Given the description of an element on the screen output the (x, y) to click on. 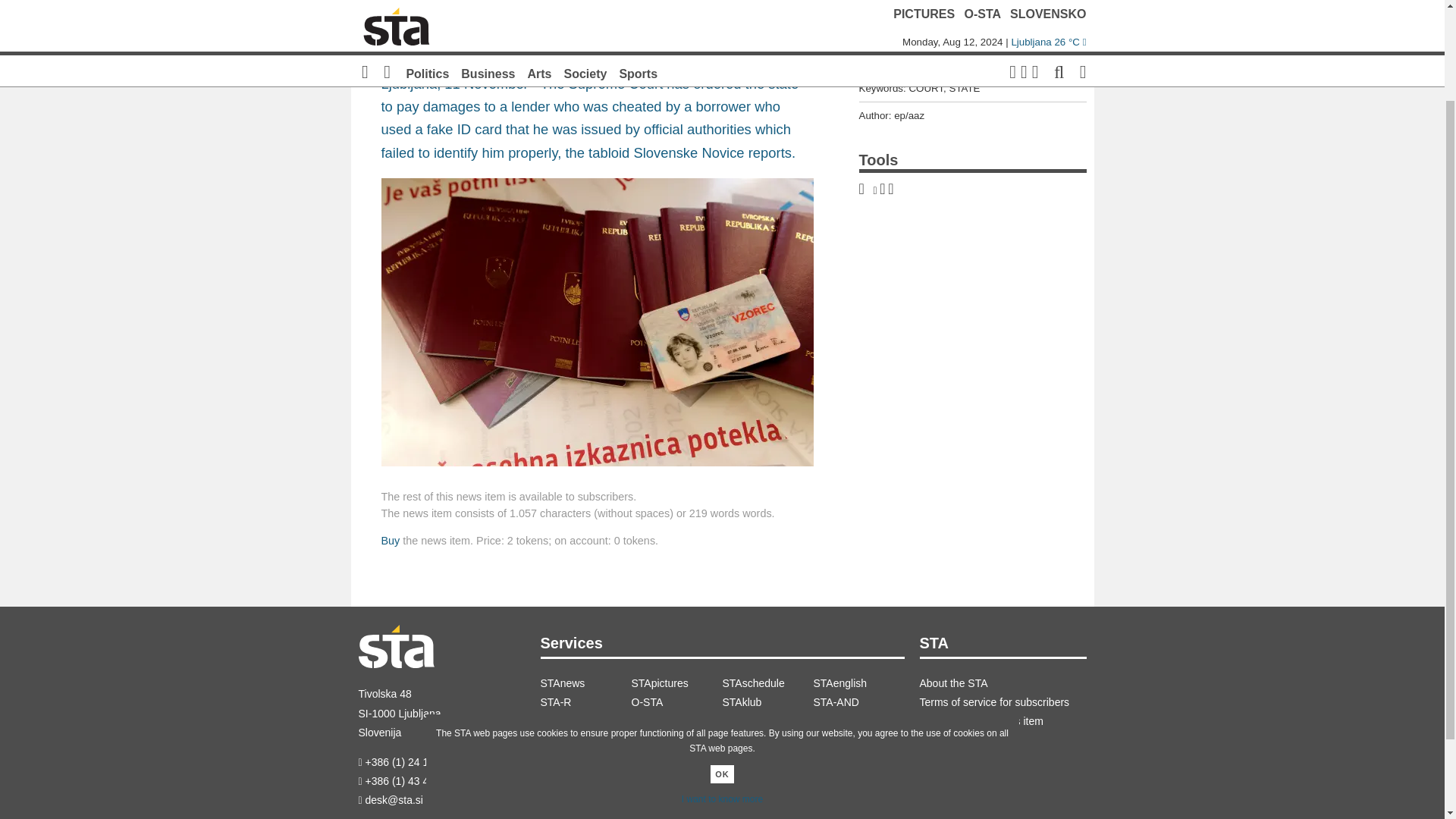
STAenglish (858, 683)
Public service (767, 721)
STA-R (585, 701)
STAkrog (585, 721)
O-STA (676, 701)
STApictures (676, 683)
STAklub (767, 701)
Buy (389, 540)
STAschedule (767, 683)
STAmisli (676, 721)
